Given the description of an element on the screen output the (x, y) to click on. 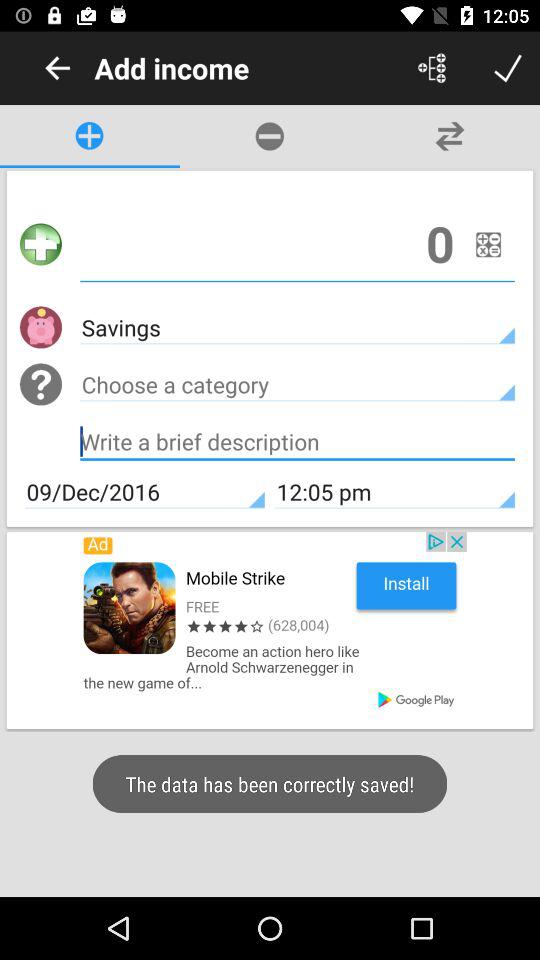
calculator icon button (488, 244)
